Given the description of an element on the screen output the (x, y) to click on. 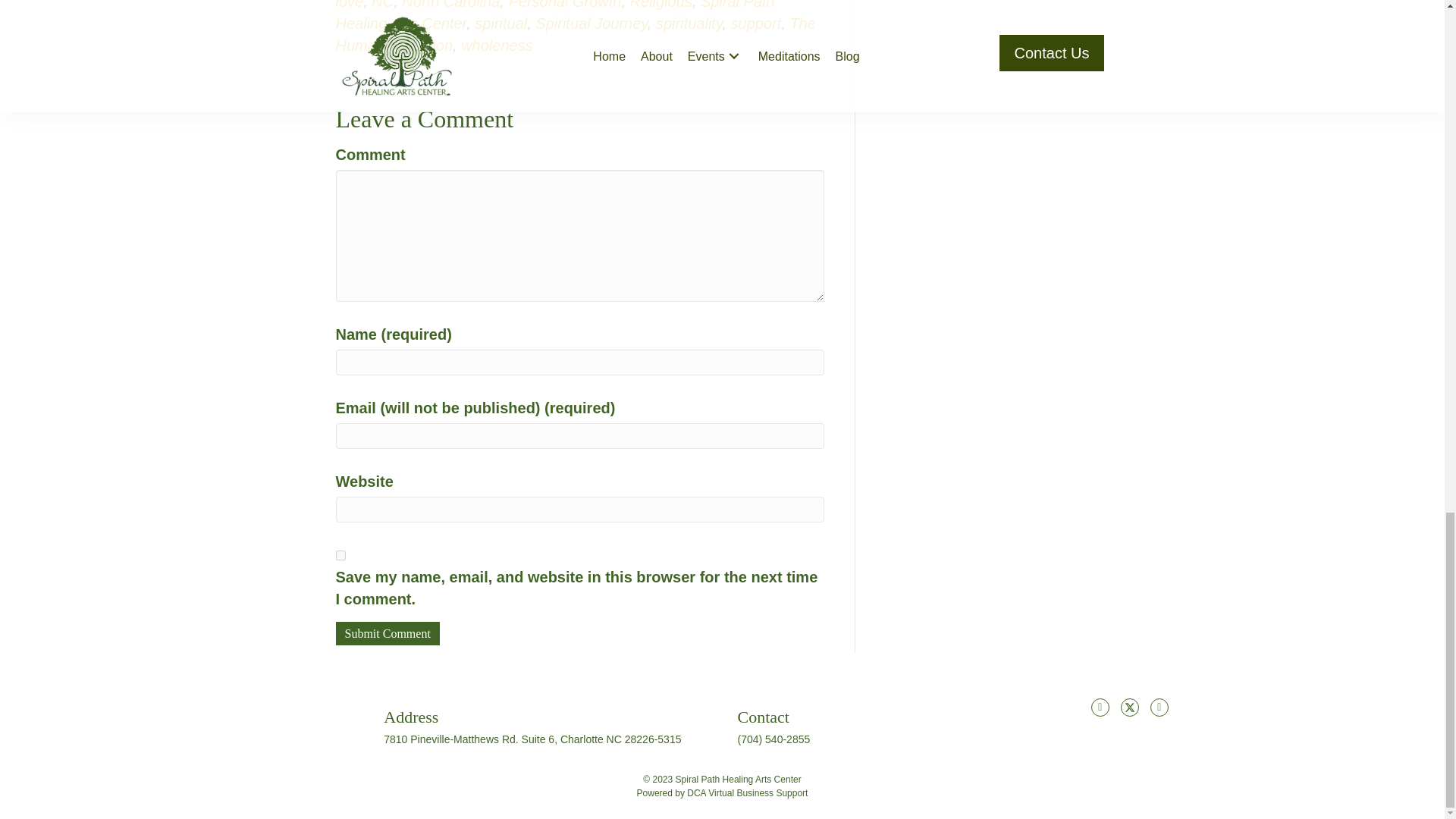
North Carolina (450, 4)
love (348, 4)
spirituality (689, 23)
support (755, 23)
spiritual (500, 23)
wholeness (496, 45)
Religious (661, 4)
NC (382, 4)
Submit Comment (386, 633)
Spiral Path Healing Arts Center (554, 15)
The Human Condition (574, 34)
Personal Growth (564, 4)
yes (339, 555)
Spiritual Journey (590, 23)
